Given the description of an element on the screen output the (x, y) to click on. 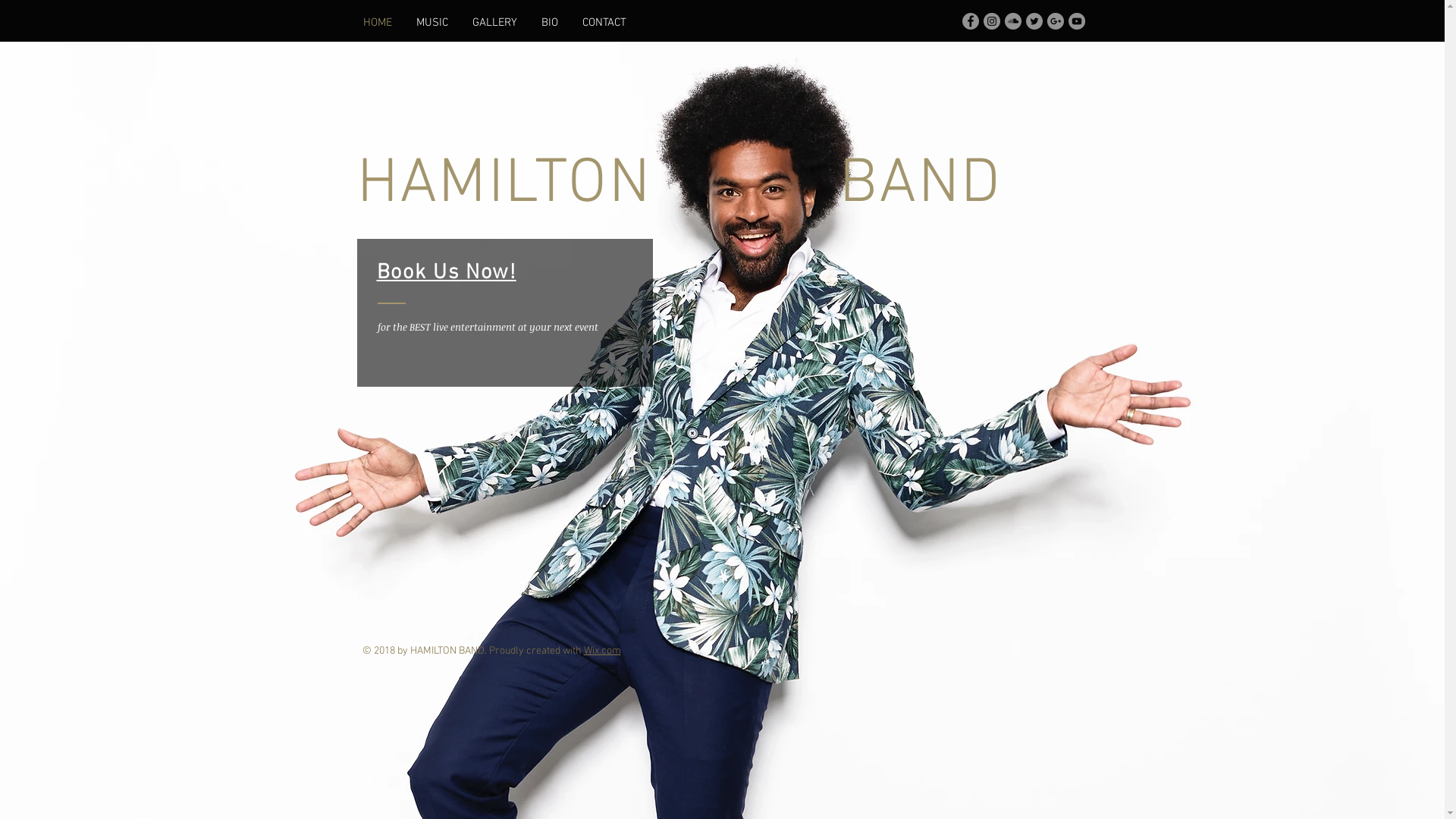
BIO Element type: text (549, 22)
HAMILTON           BAND Element type: text (678, 184)
MUSIC Element type: text (431, 22)
HOME Element type: text (376, 22)
Book Us Now! Element type: text (445, 272)
CONTACT Element type: text (604, 22)
GALLERY Element type: text (493, 22)
Wix.com Element type: text (602, 650)
